Given the description of an element on the screen output the (x, y) to click on. 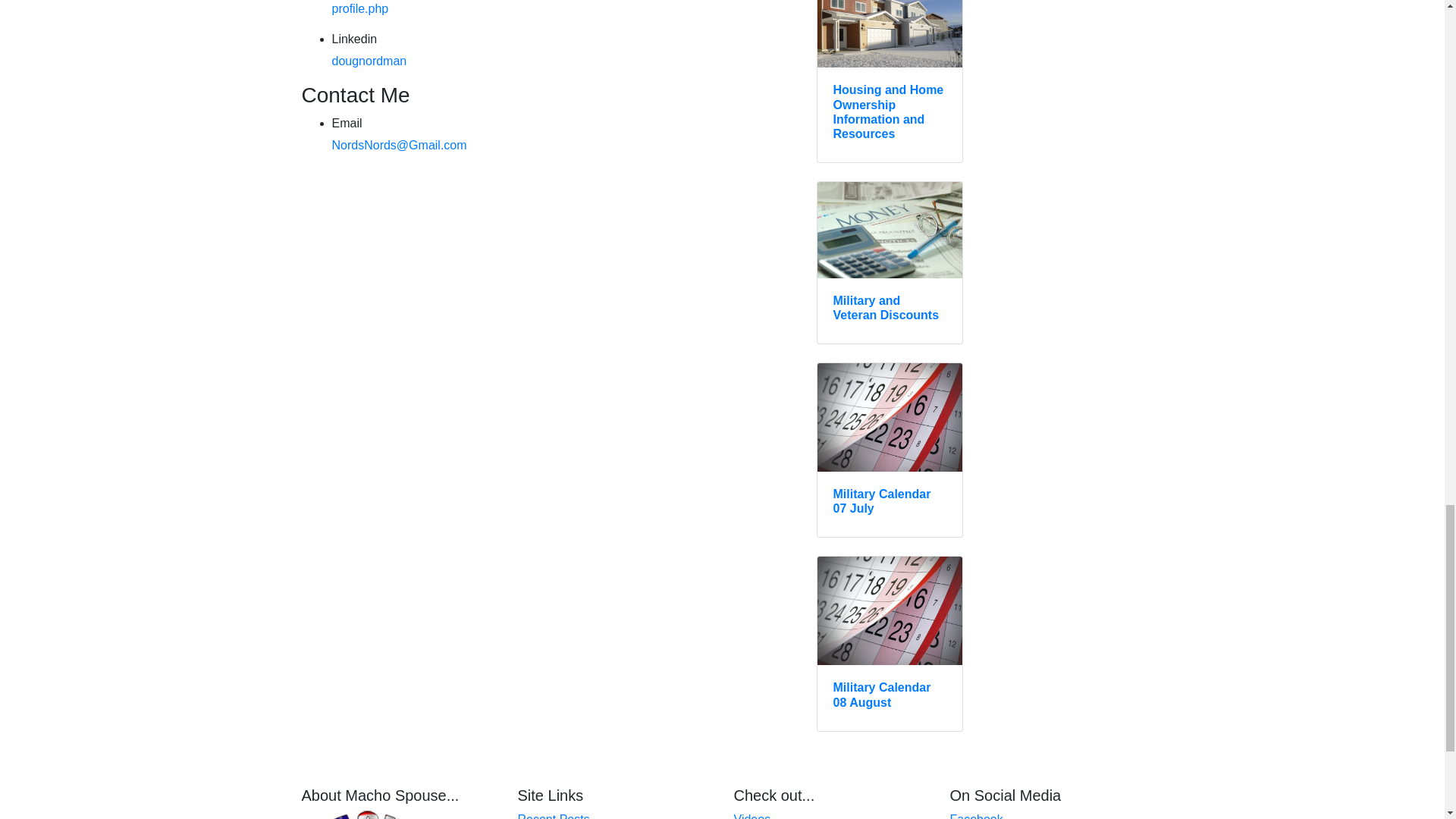
profile.php (359, 8)
Recent Posts (552, 816)
Macho Spouse Videos (752, 816)
Housing and Home Ownership Information and Resources (889, 81)
dougnordman (369, 60)
Recently Updaed Posts (552, 816)
Macho Spouse on Facebook (976, 816)
Email (399, 144)
Videos (752, 816)
Military and Veteran Discounts (889, 262)
